Given the description of an element on the screen output the (x, y) to click on. 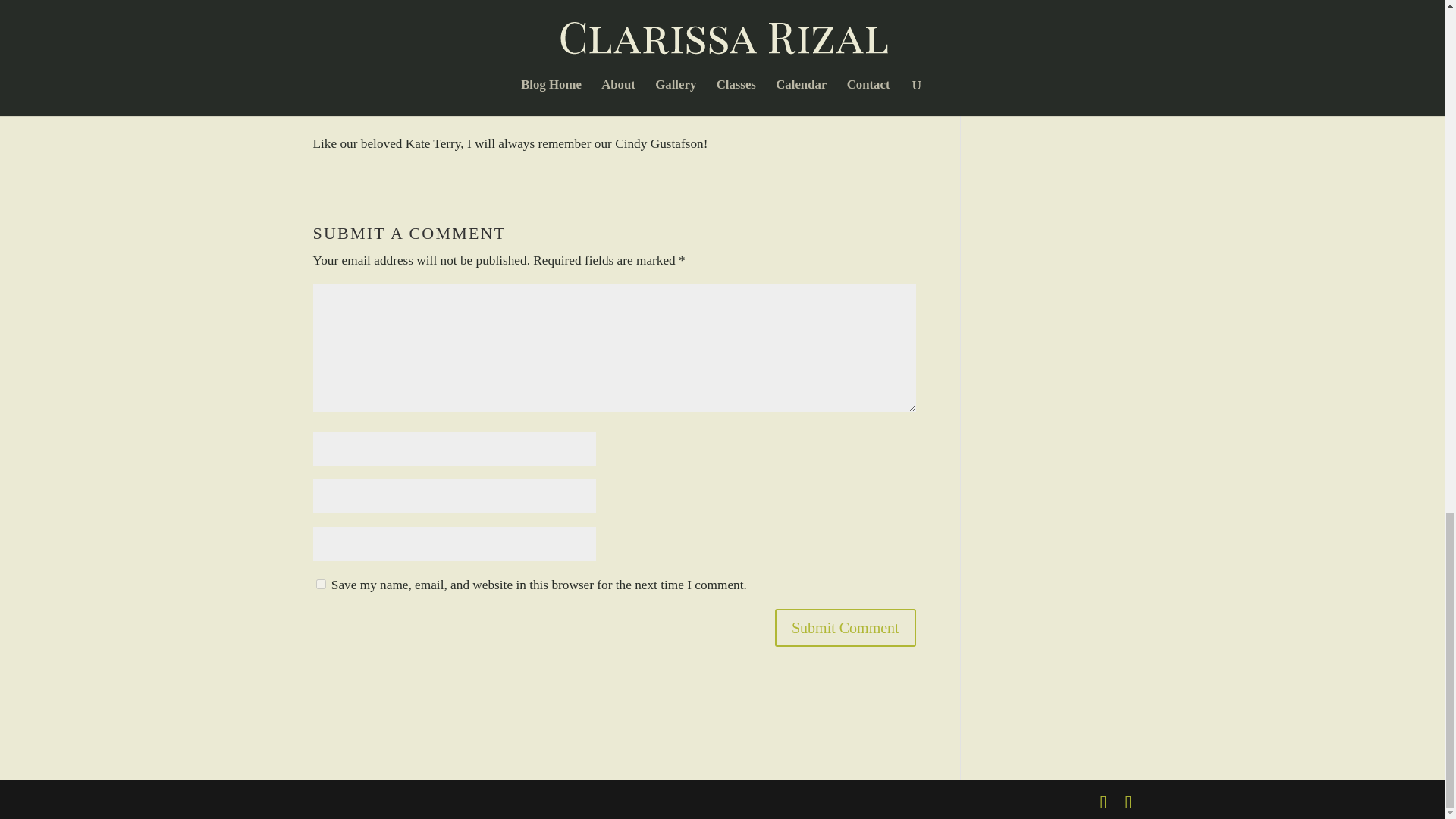
Submit Comment (844, 628)
yes (319, 583)
Submit Comment (844, 628)
